Given the description of an element on the screen output the (x, y) to click on. 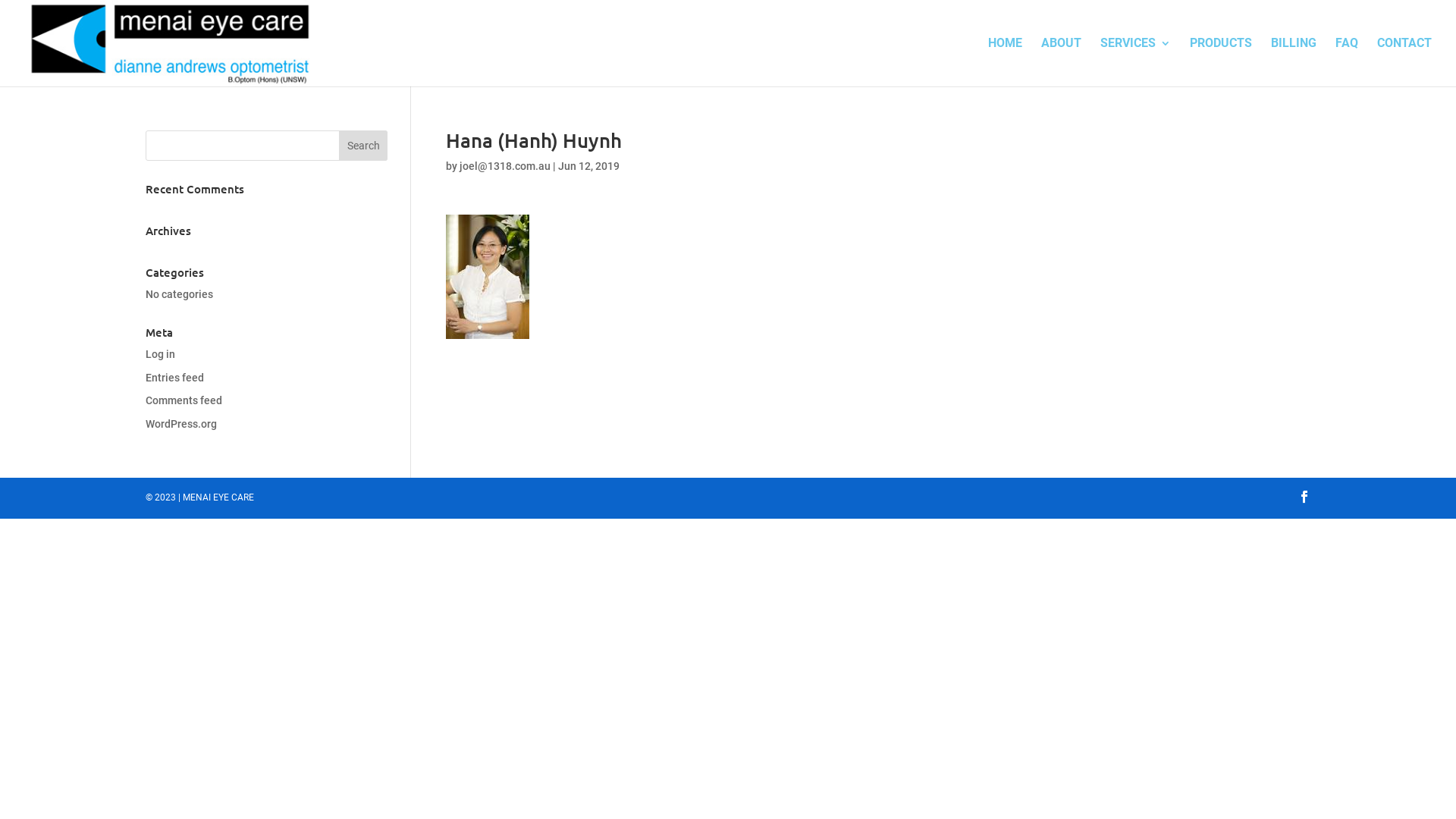
Log in Element type: text (160, 354)
FAQ Element type: text (1346, 61)
ABOUT Element type: text (1061, 61)
SERVICES Element type: text (1135, 61)
WordPress.org Element type: text (180, 423)
joel@1318.com.au Element type: text (504, 166)
Search Element type: text (363, 145)
Comments feed Element type: text (183, 400)
BILLING Element type: text (1293, 61)
CONTACT Element type: text (1404, 61)
PRODUCTS Element type: text (1220, 61)
HOME Element type: text (1005, 61)
Entries feed Element type: text (174, 377)
